Given the description of an element on the screen output the (x, y) to click on. 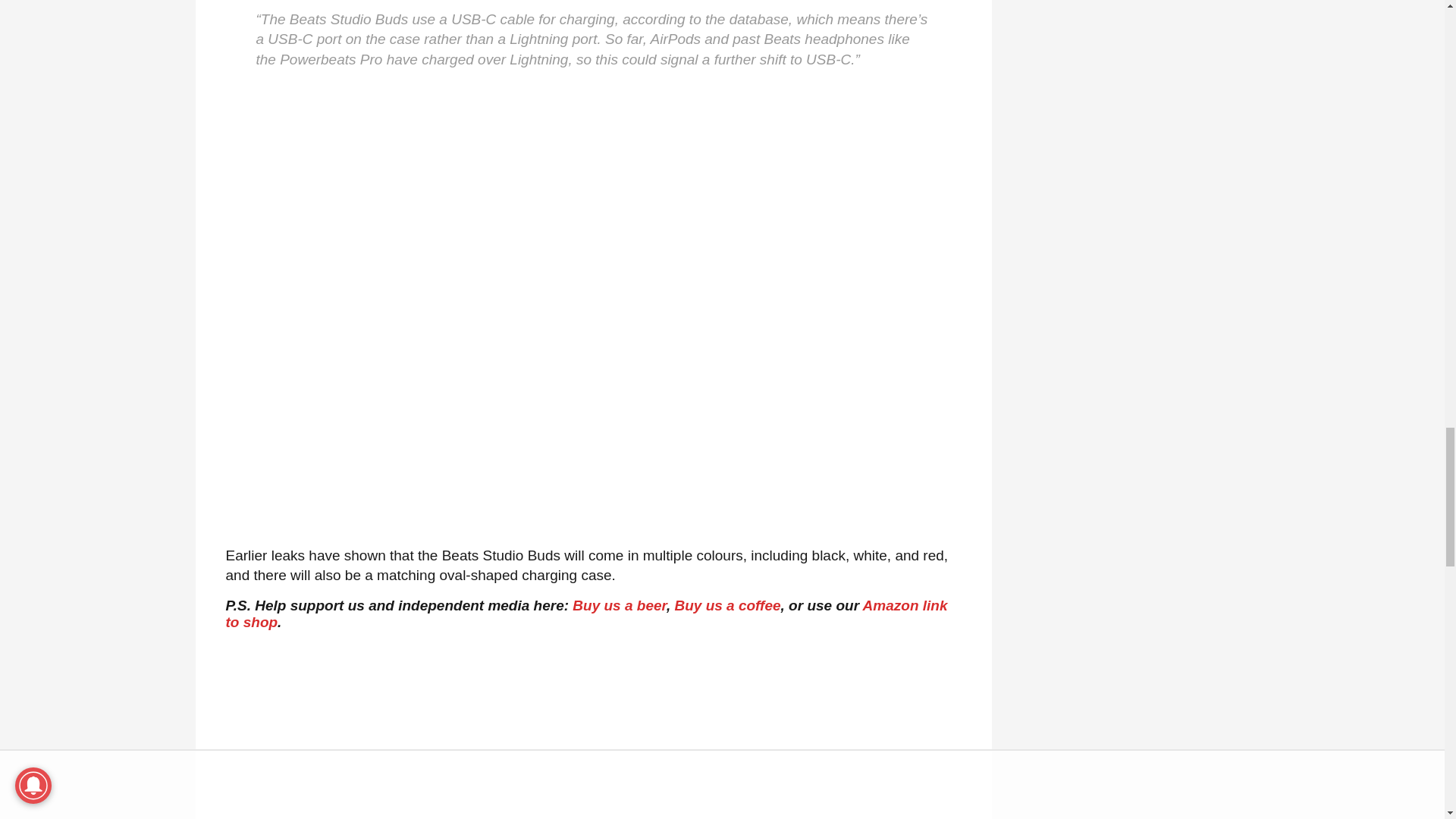
Amazon link to shop (586, 613)
Buy us a beer (619, 605)
Buy us a coffee (727, 605)
